Given the description of an element on the screen output the (x, y) to click on. 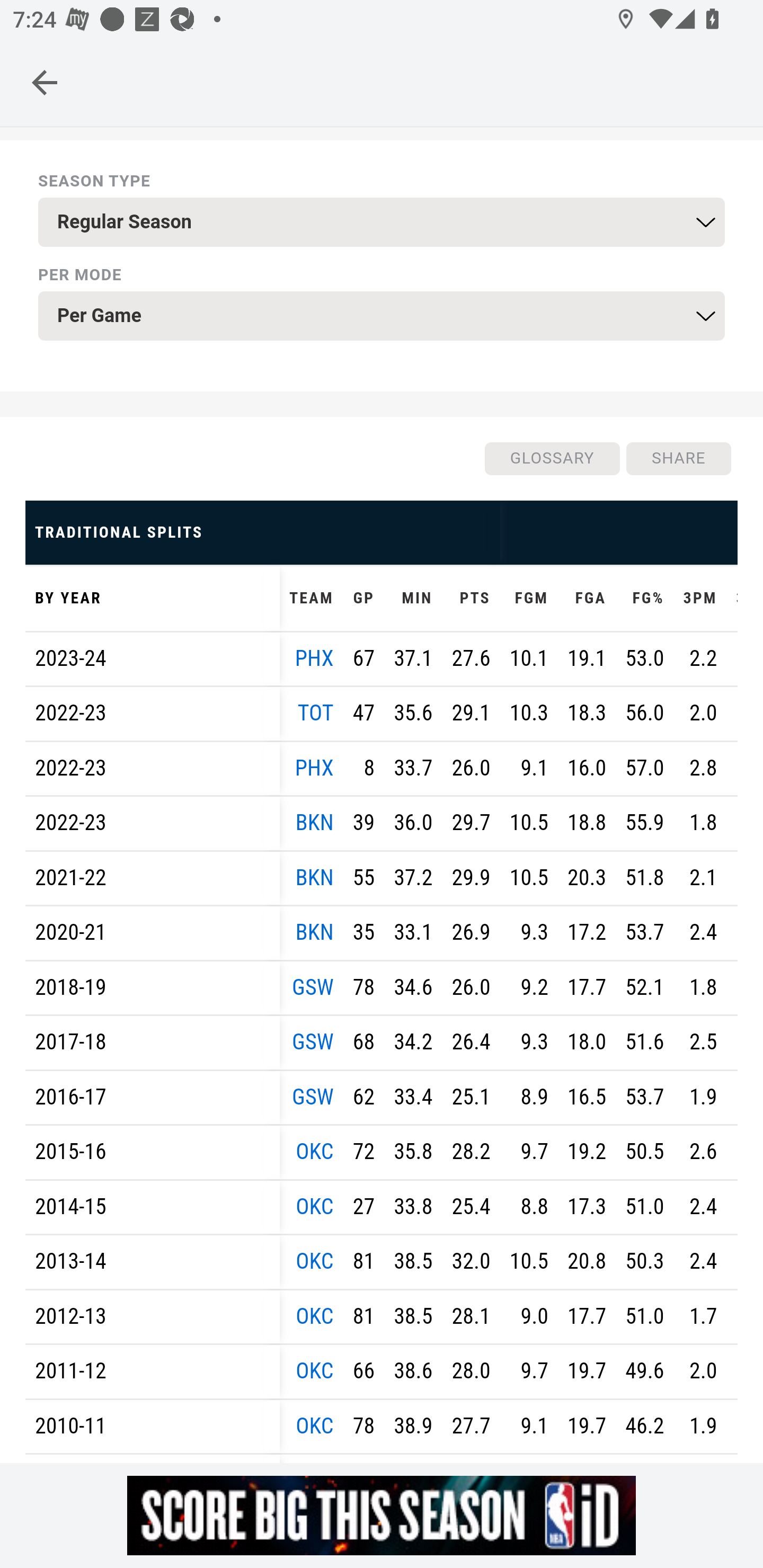
Navigate up (44, 82)
Regular Season (381, 222)
Per Game (381, 315)
GLOSSARY (550, 458)
SHARE (677, 458)
BY YEAR (152, 597)
TEAM (311, 597)
GP (362, 597)
MIN (413, 597)
PTS (470, 597)
FGM (528, 597)
FGA (586, 597)
FG% (643, 597)
3PM (699, 597)
PHX (313, 658)
TOT (315, 713)
PHX (313, 768)
BKN (313, 823)
BKN (313, 877)
BKN (313, 932)
GSW (312, 987)
GSW (312, 1042)
GSW (312, 1096)
OKC (315, 1152)
OKC (315, 1206)
OKC (315, 1262)
OKC (315, 1316)
OKC (315, 1371)
OKC (315, 1425)
g5nqqygr7owph (381, 1515)
